Given the description of an element on the screen output the (x, y) to click on. 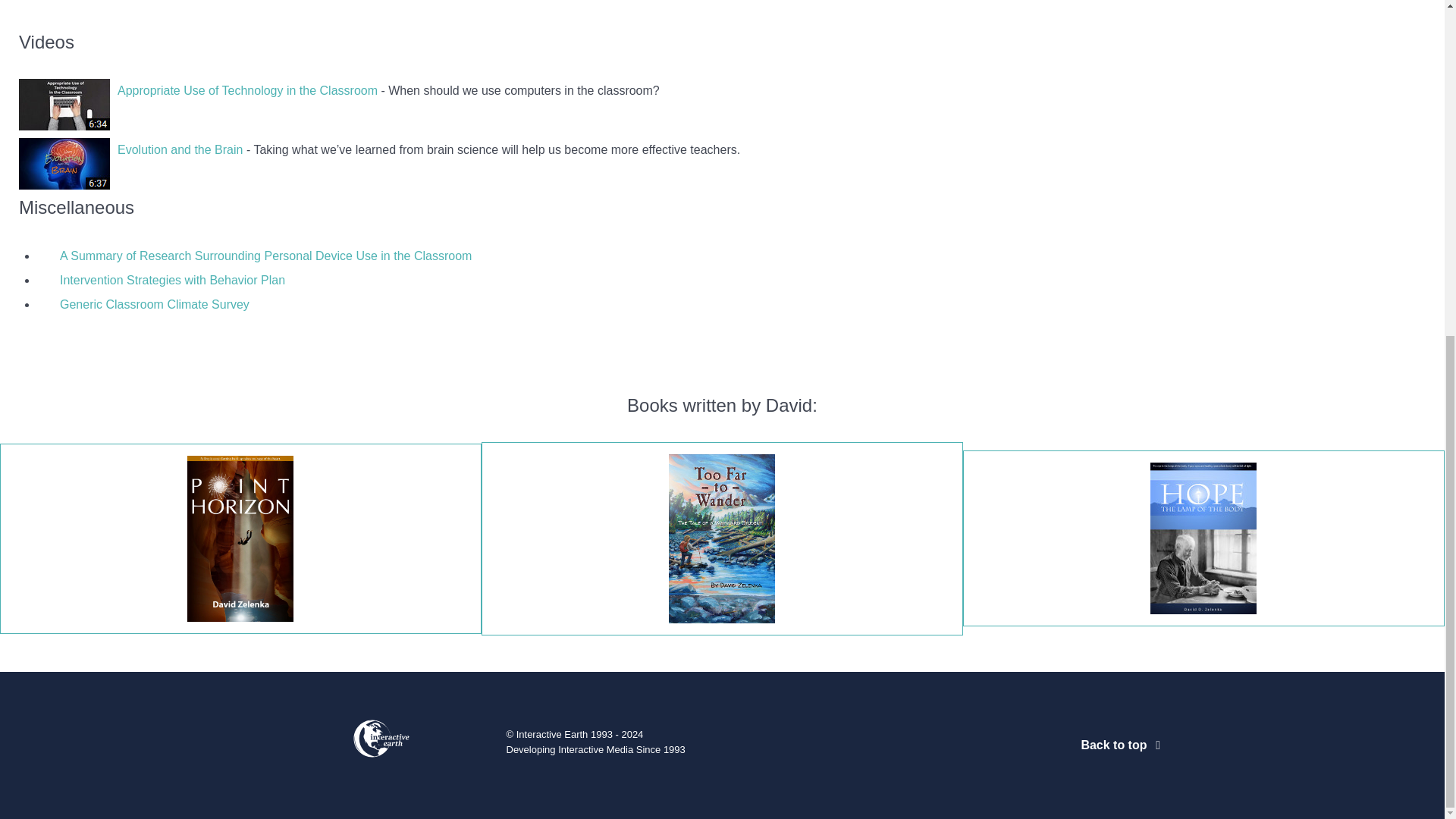
Intervention Strategies with Behavior Plan (172, 279)
Generic Classroom Climate Survey (153, 304)
Evolution and the Brain (180, 149)
Back to top (1123, 744)
Appropriate Use of Technology in the Classroom (247, 90)
